Given the description of an element on the screen output the (x, y) to click on. 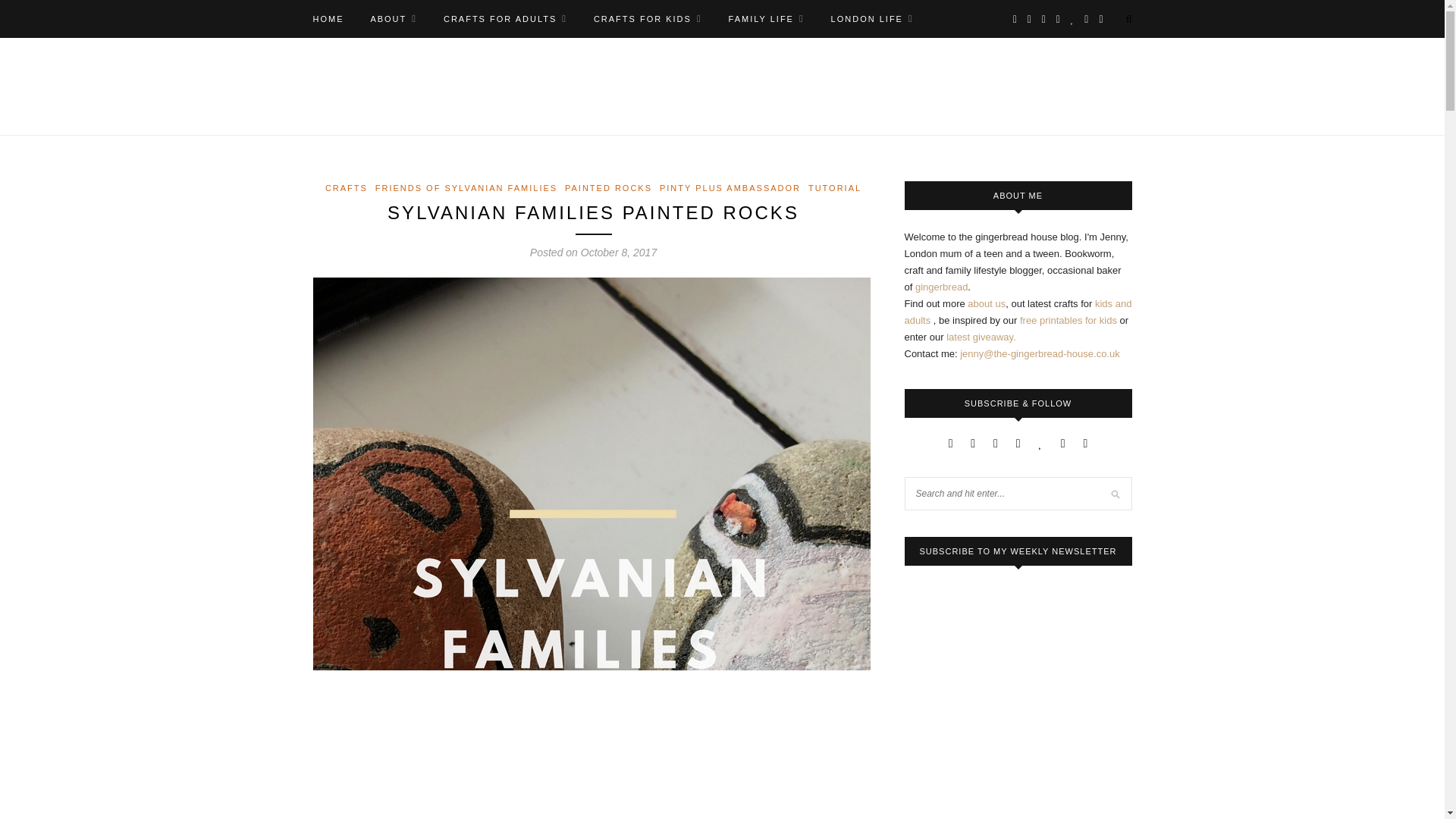
CRAFTS FOR ADULTS (505, 18)
ABOUT (392, 18)
